Given the description of an element on the screen output the (x, y) to click on. 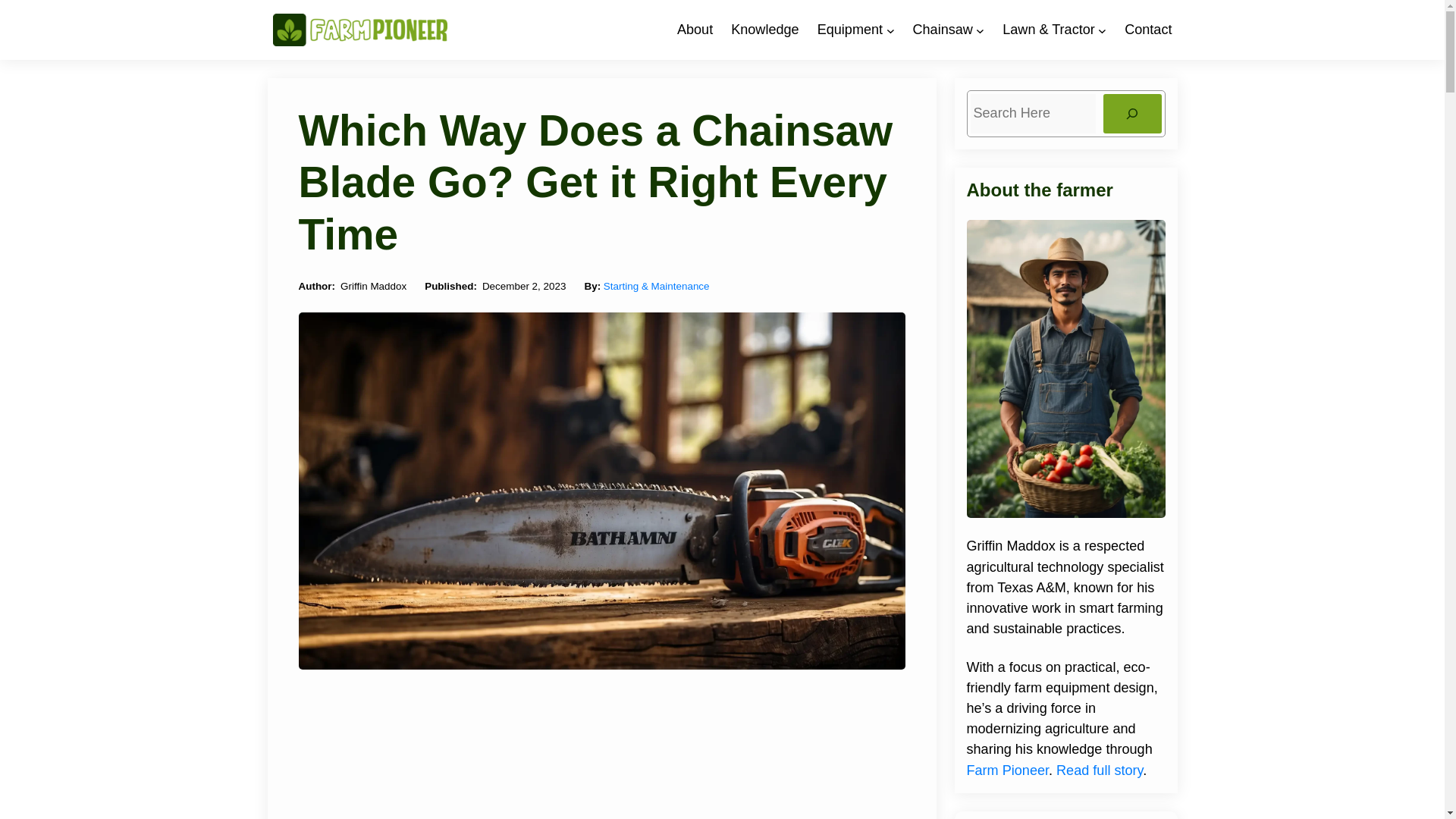
Chainsaw Insights (942, 30)
Knowledge (763, 30)
Chainsaw (942, 30)
Contact with us (1148, 30)
About Griffin Maddox (695, 30)
About (695, 30)
Agricultural Equipment Insights (849, 30)
Equipment (849, 30)
Contact (1148, 30)
Knowledge about farming and gardening (763, 30)
